Given the description of an element on the screen output the (x, y) to click on. 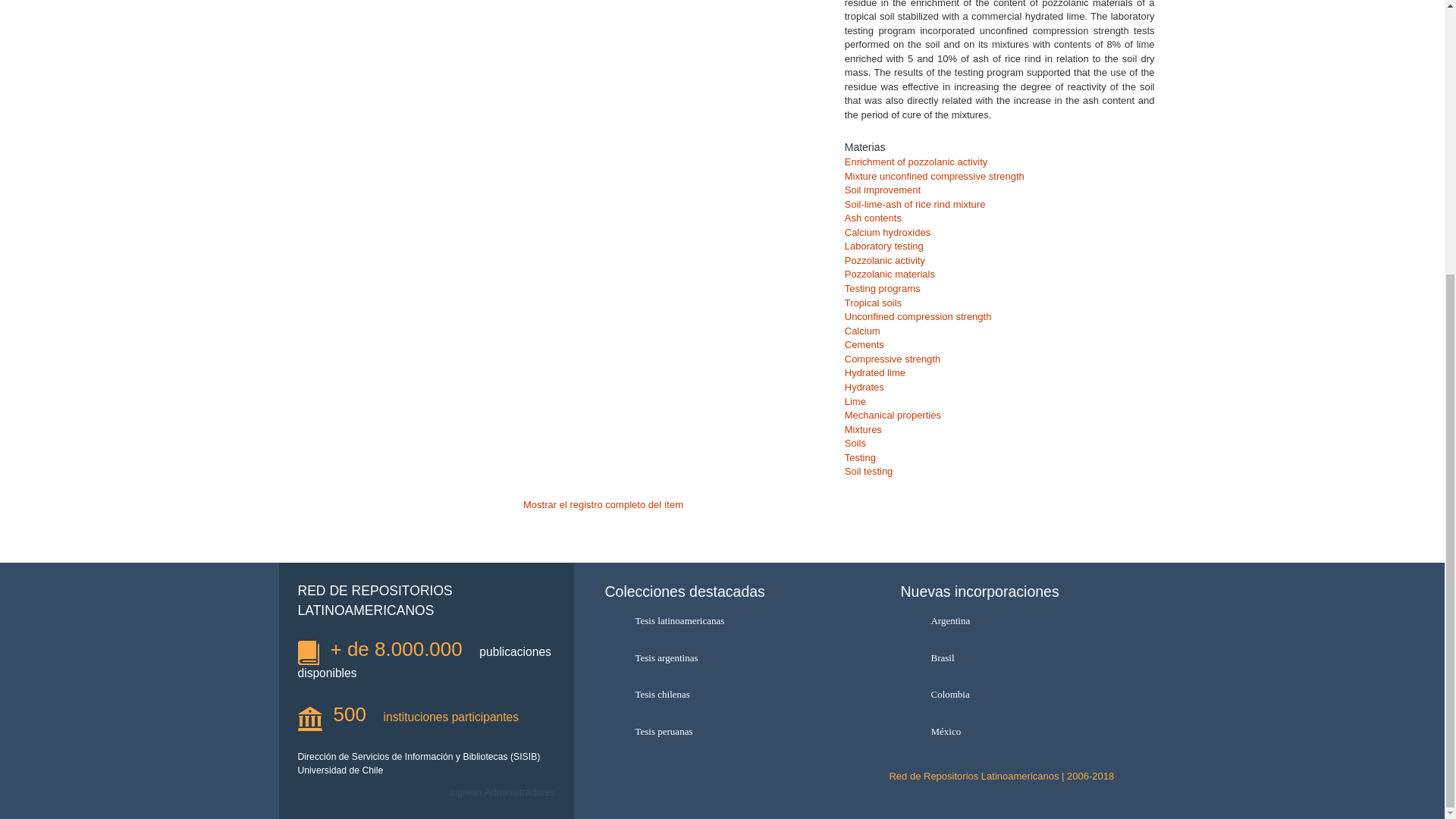
Ash contents (872, 217)
Laboratory testing (883, 245)
Cements (863, 344)
Soil improvement (882, 189)
Soil-lime-ash of rice rind mixture (914, 204)
Compressive strength (892, 358)
Tropical soils (872, 302)
Unconfined compression strength (917, 316)
Calcium hydroxides (887, 232)
Pozzolanic activity (884, 260)
Enrichment of pozzolanic activity (916, 161)
Mixture unconfined compressive strength (934, 175)
Pozzolanic materials (889, 274)
Testing programs (882, 288)
Calcium (862, 330)
